Given the description of an element on the screen output the (x, y) to click on. 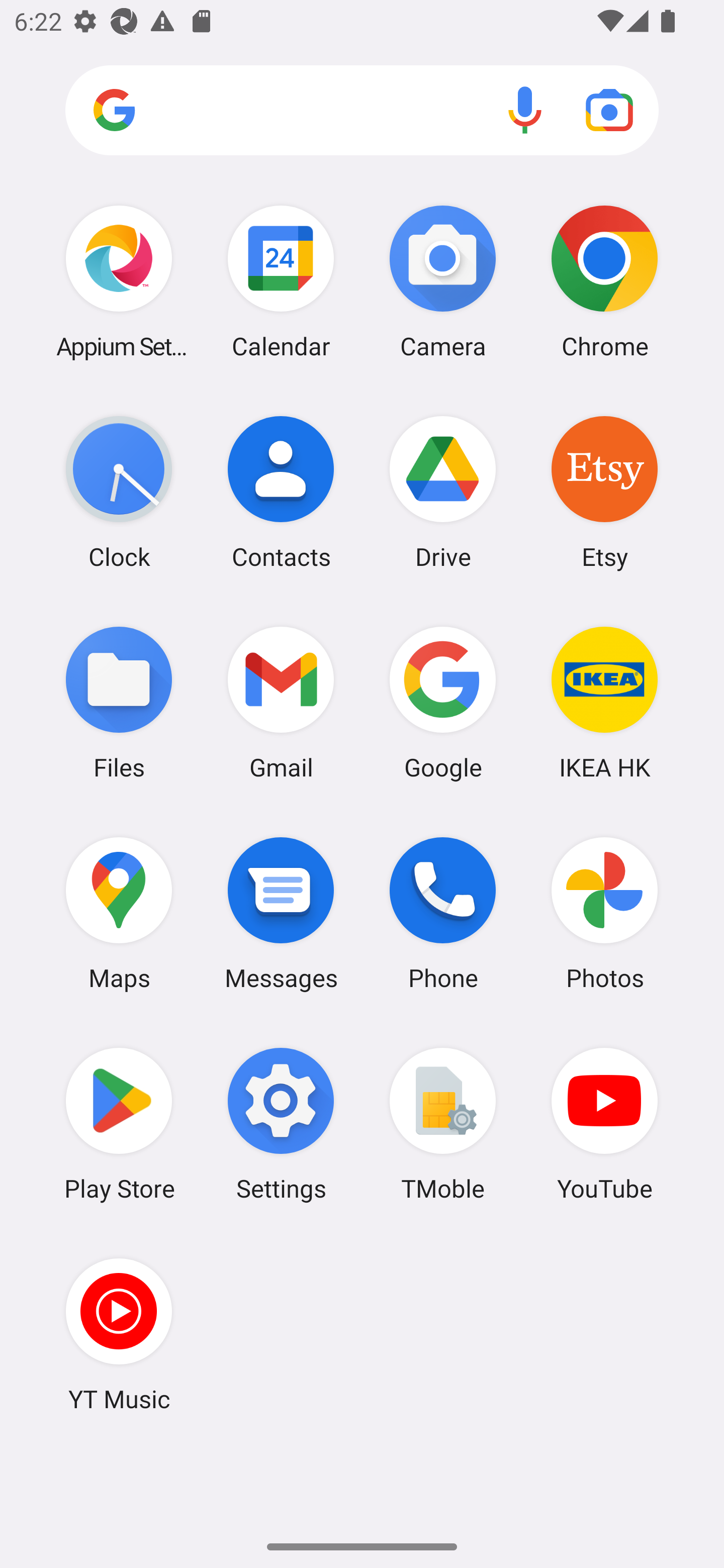
Search apps, web and more (361, 110)
Voice search (524, 109)
Google Lens (608, 109)
Appium Settings (118, 281)
Calendar (280, 281)
Camera (443, 281)
Chrome (604, 281)
Clock (118, 492)
Contacts (280, 492)
Drive (443, 492)
Etsy (604, 492)
Files (118, 702)
Gmail (280, 702)
Google (443, 702)
IKEA HK (604, 702)
Maps (118, 913)
Messages (280, 913)
Phone (443, 913)
Photos (604, 913)
Play Store (118, 1124)
Settings (280, 1124)
TMoble (443, 1124)
YouTube (604, 1124)
YT Music (118, 1334)
